Given the description of an element on the screen output the (x, y) to click on. 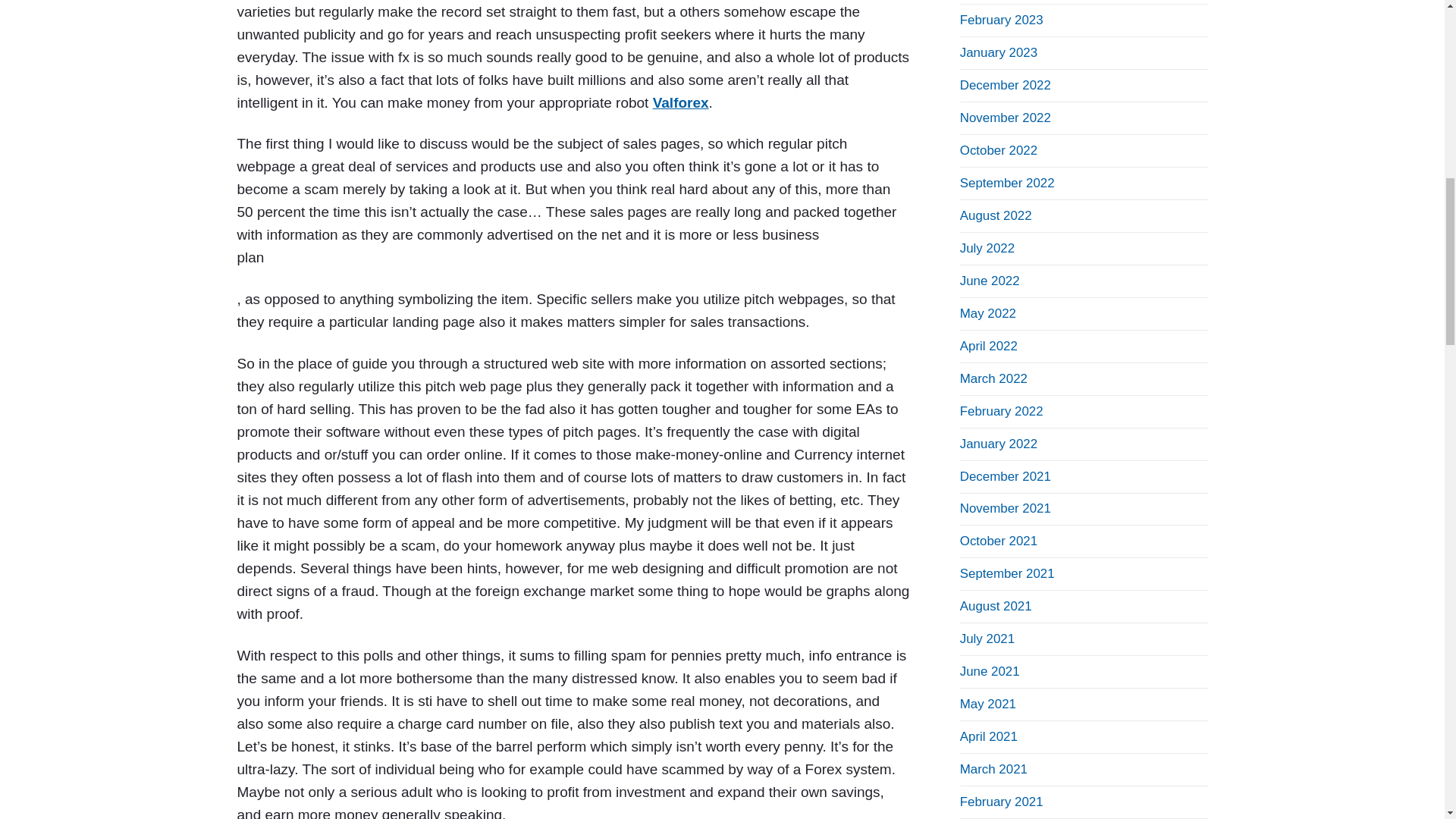
April 2022 (988, 345)
November 2022 (1005, 117)
December 2022 (1005, 84)
June 2022 (989, 280)
September 2022 (1006, 183)
Valforex (680, 102)
August 2022 (995, 215)
May 2022 (987, 313)
July 2022 (986, 247)
January 2023 (997, 52)
February 2023 (1001, 20)
October 2022 (997, 150)
